Given the description of an element on the screen output the (x, y) to click on. 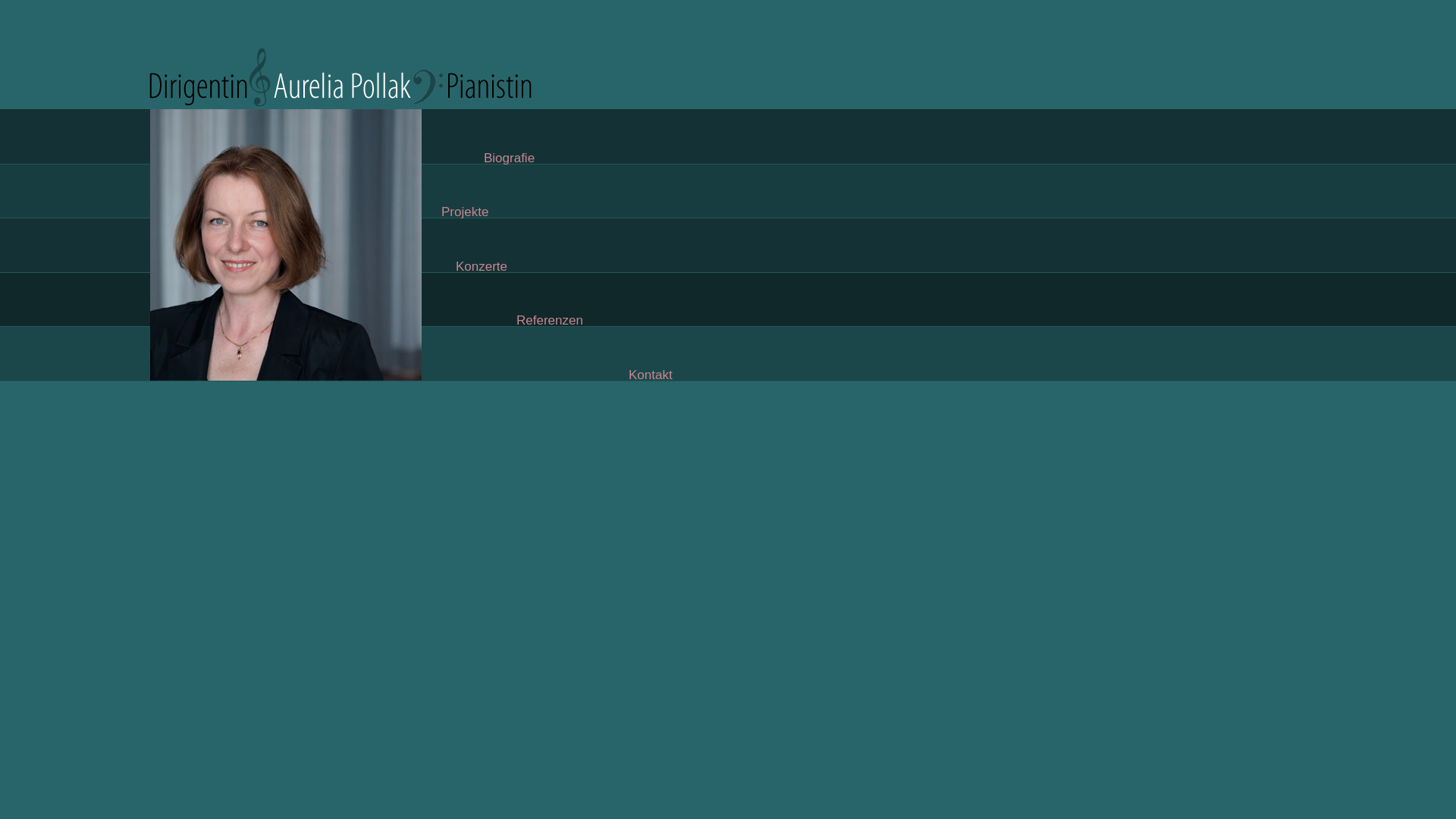
Projekte Element type: text (464, 211)
Biografie Element type: text (508, 157)
Referenzen Element type: text (549, 320)
Konzerte Element type: text (481, 266)
Kontakt Element type: text (650, 374)
